Given the description of an element on the screen output the (x, y) to click on. 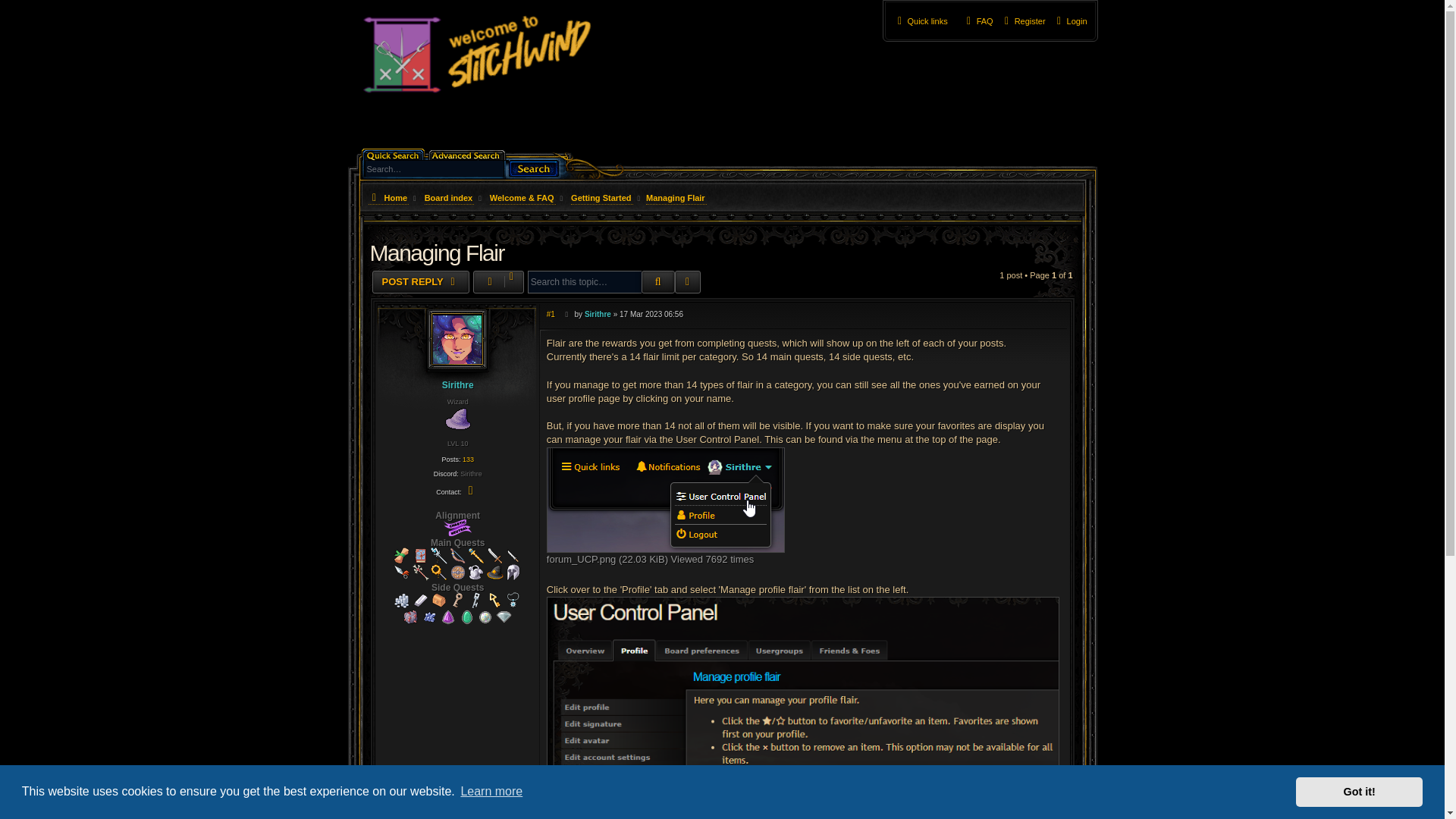
Sirithre (458, 385)
Contact Sirithre (471, 490)
133 (468, 459)
Home (387, 197)
Board index (449, 197)
Login (1069, 21)
Managing Flair (675, 197)
Search (658, 282)
Search for keywords (434, 168)
Learn more (491, 791)
